Given the description of an element on the screen output the (x, y) to click on. 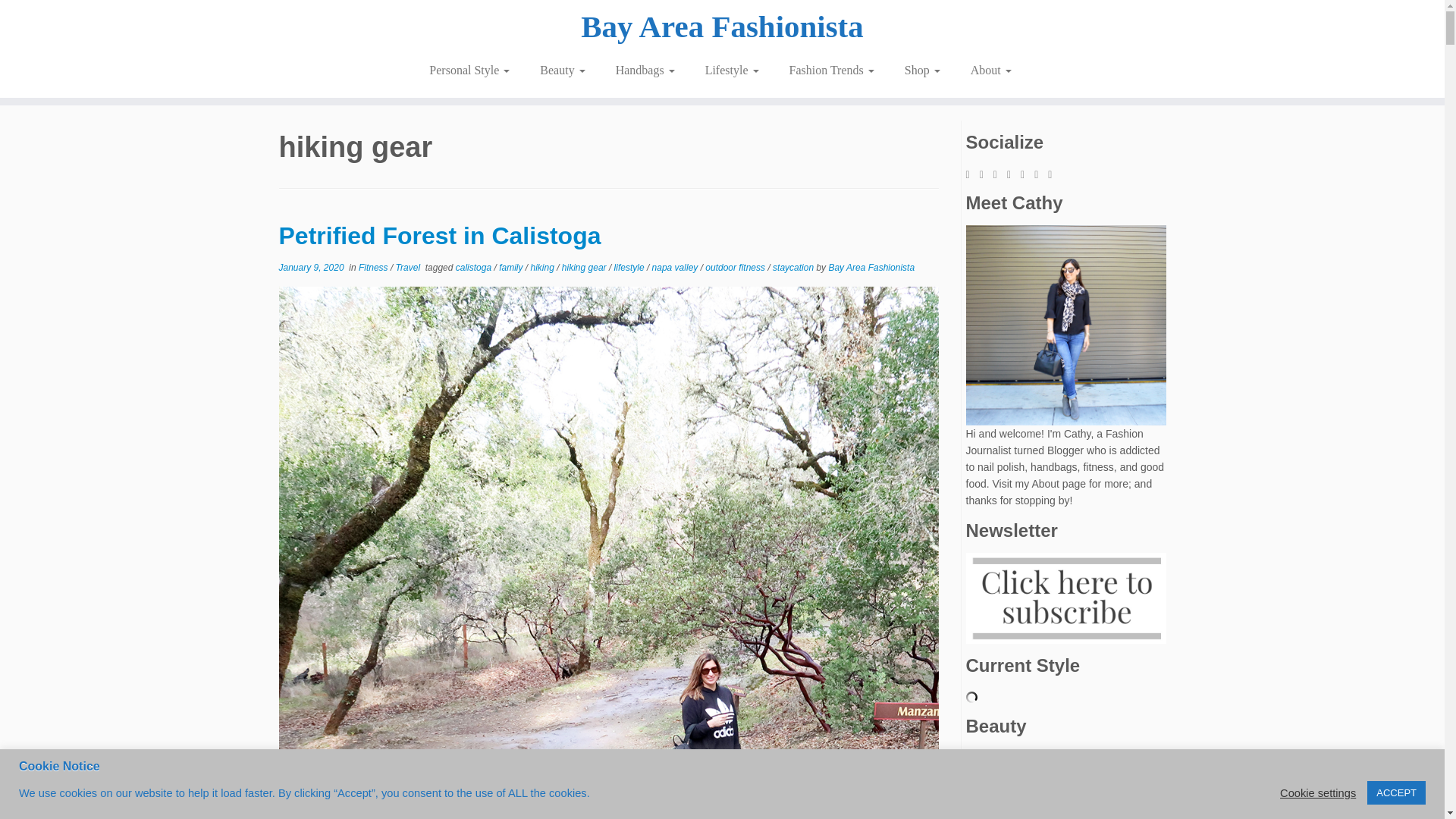
Shop (922, 70)
Personal Style (468, 70)
View all posts in hiking gear (585, 267)
View all posts in Fitness (374, 267)
6:00 am (311, 267)
View all posts in napa valley (676, 267)
View all posts in lifestyle (630, 267)
Fashion Trends (831, 70)
View all posts in Travel (409, 267)
Lifestyle (732, 70)
